Given the description of an element on the screen output the (x, y) to click on. 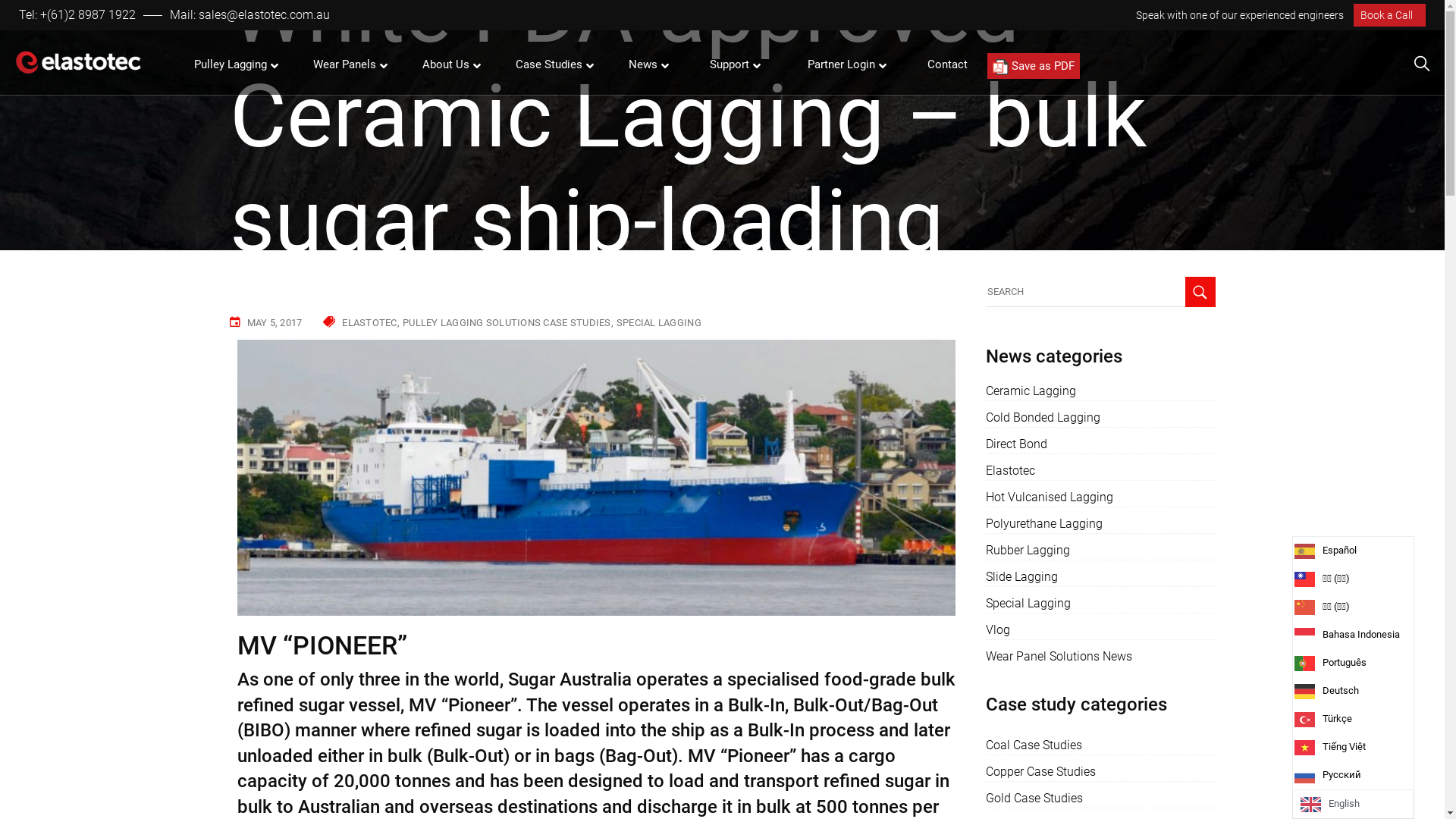
Tel: +(61)2 8987 1922 Element type: text (76, 14)
Polyurethane Lagging Element type: text (1043, 523)
Contact Element type: text (947, 64)
SPECIAL LAGGING Element type: text (658, 322)
Copper Case Studies Element type: text (1040, 771)
Wear Panel Solutions News Element type: text (1058, 656)
Case Studies Element type: text (550, 64)
MAY 5, 2017 Element type: text (274, 322)
Special Lagging Element type: text (1027, 603)
About Us Element type: text (447, 64)
Direct Bond Element type: text (1016, 444)
Slide Lagging Element type: text (1021, 576)
Pulley Lagging Element type: text (231, 64)
Wear Panels Element type: text (346, 64)
Vlog Element type: text (997, 630)
Elastotec Element type: text (1010, 470)
News Element type: text (644, 64)
ELASTOTEC Element type: text (370, 322)
PULLEY LAGGING SOLUTIONS CASE STUDIES Element type: text (507, 322)
 Save as PDF Element type: text (1033, 65)
Ceramic Lagging Element type: text (1030, 391)
Partner Login Element type: text (843, 64)
Support Element type: text (731, 64)
Gold Case Studies Element type: text (1033, 798)
Deutsch Element type: text (1359, 691)
Rubber Lagging Element type: text (1027, 550)
Bahasa Indonesia Element type: text (1359, 635)
Coal Case Studies Element type: text (1033, 745)
Hot Vulcanised Lagging Element type: text (1049, 497)
Mail: sales@elastotec.com.au Element type: text (249, 14)
Book a Call Element type: text (1389, 14)
Cold Bonded Lagging Element type: text (1042, 417)
